Given the description of an element on the screen output the (x, y) to click on. 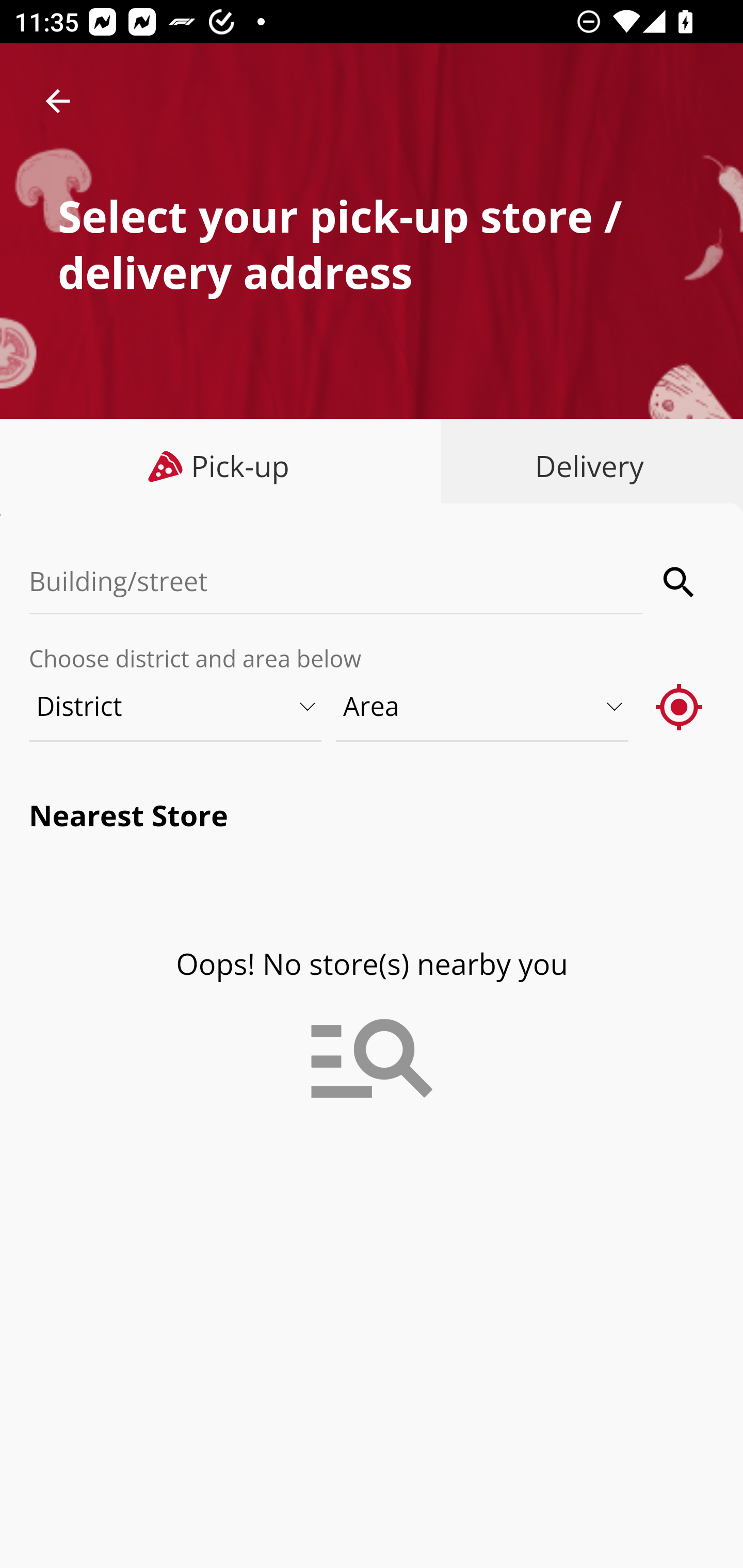
arrow_back (58, 100)
prev next Pick-up Delivery (371, 467)
Delivery (585, 466)
search (679, 582)
gps_fixed (679, 706)
District (175, 706)
Area (482, 706)
